Given the description of an element on the screen output the (x, y) to click on. 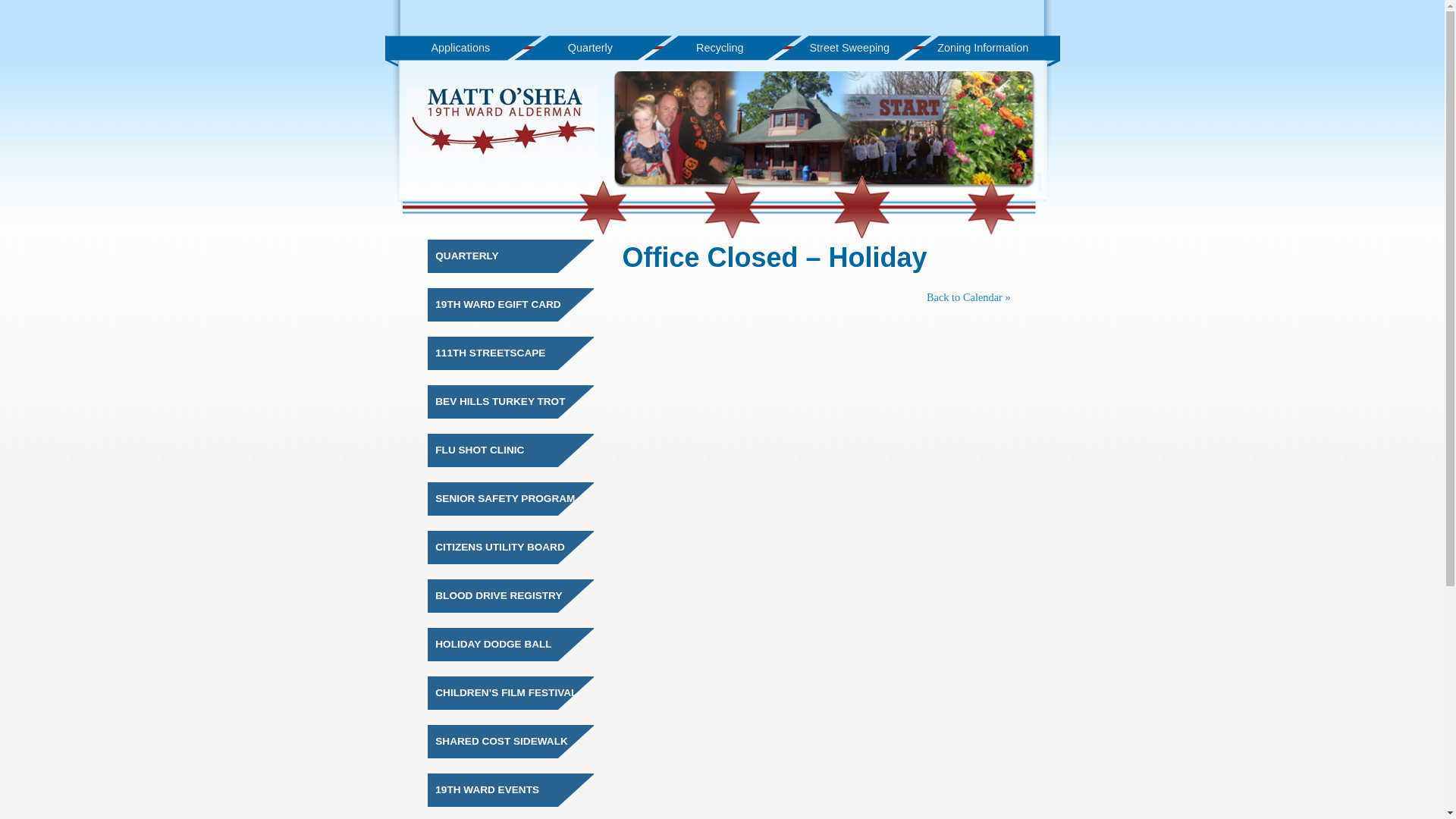
BLOOD DRIVE REGISTRY Element type: text (498, 595)
BEV HILLS TURKEY TROT Element type: text (499, 401)
Recycling Element type: text (719, 47)
QUARTERLY Element type: text (466, 255)
SENIOR SAFETY PROGRAM Element type: text (504, 498)
Applications Element type: text (459, 47)
Zoning Information Element type: text (982, 47)
SHARED COST SIDEWALK Element type: text (501, 740)
HOLIDAY DODGE BALL Element type: text (493, 643)
CITIZENS UTILITY BOARD Element type: text (499, 546)
FLU SHOT CLINIC Element type: text (479, 449)
19TH WARD EGIFT CARD Element type: text (497, 304)
111TH STREETSCAPE Element type: text (490, 352)
Quarterly Element type: text (589, 47)
19TH WARD EVENTS Element type: text (487, 789)
Street Sweeping Element type: text (848, 47)
